Given the description of an element on the screen output the (x, y) to click on. 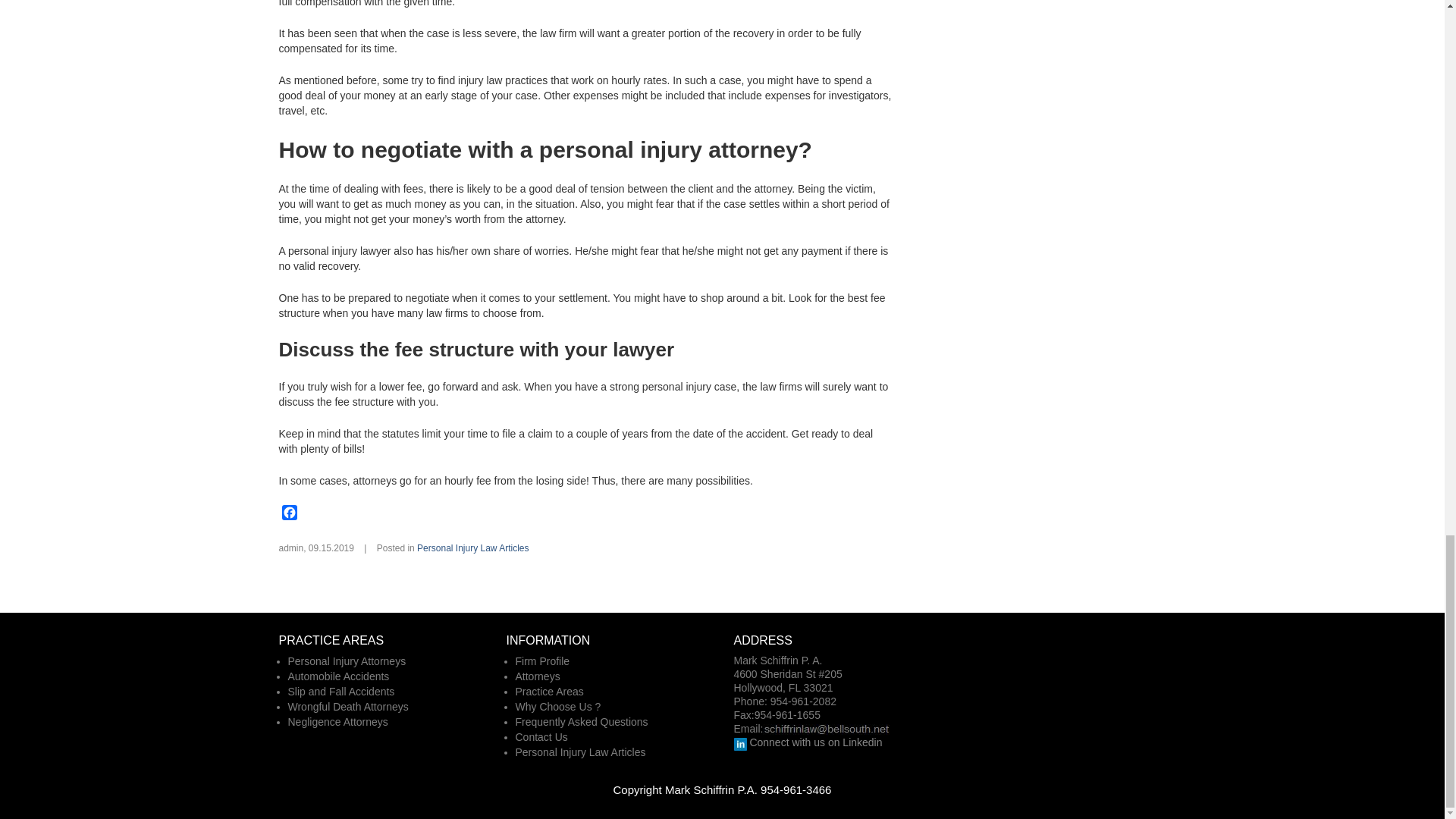
Personal Injury Law Articles (472, 547)
Mark Schiffrin P.A LinkedIn (739, 743)
Email Address (825, 728)
Facebook (289, 514)
Facebook (289, 514)
